Given the description of an element on the screen output the (x, y) to click on. 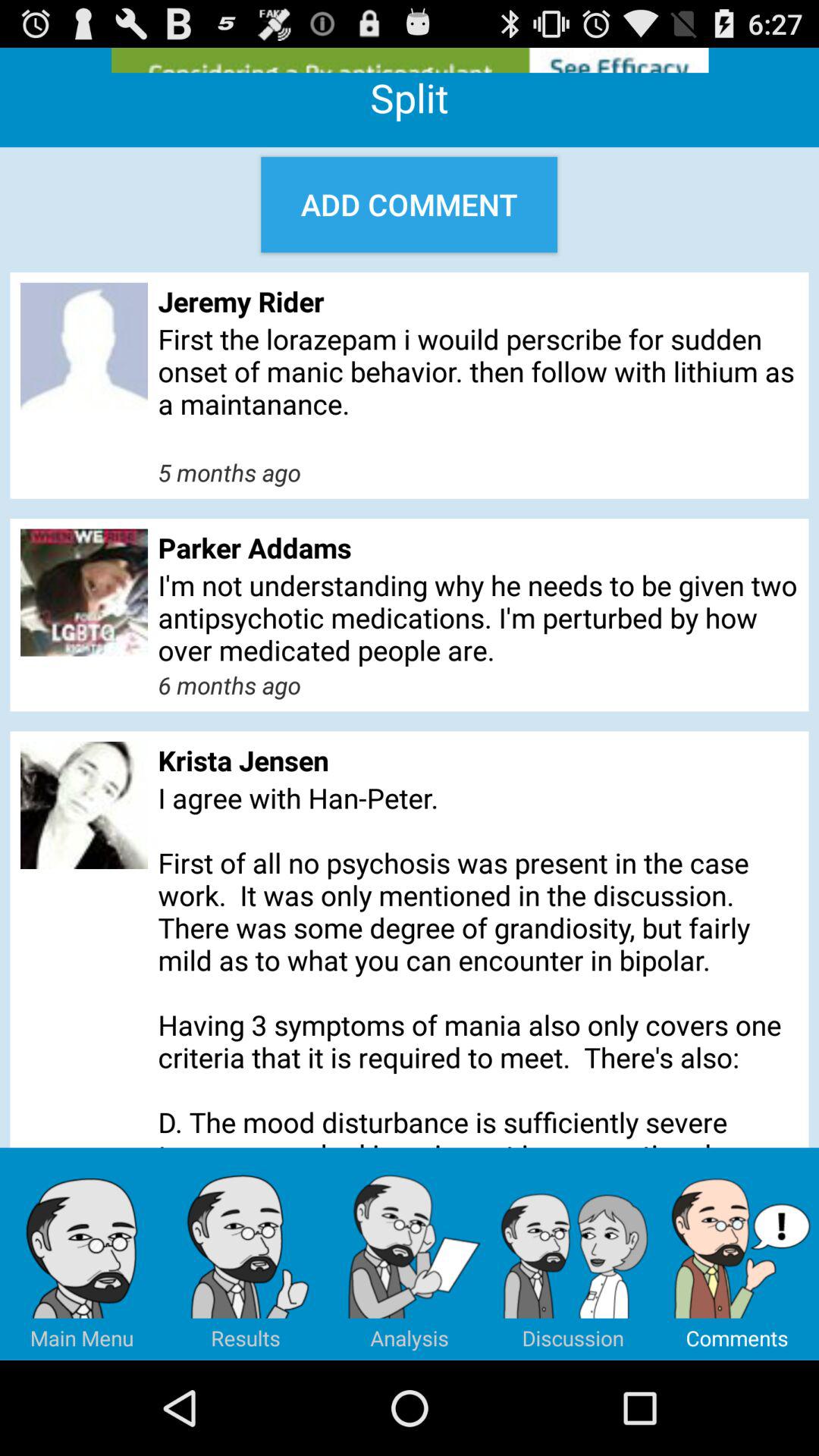
launch icon below the i agree with app (245, 1253)
